Given the description of an element on the screen output the (x, y) to click on. 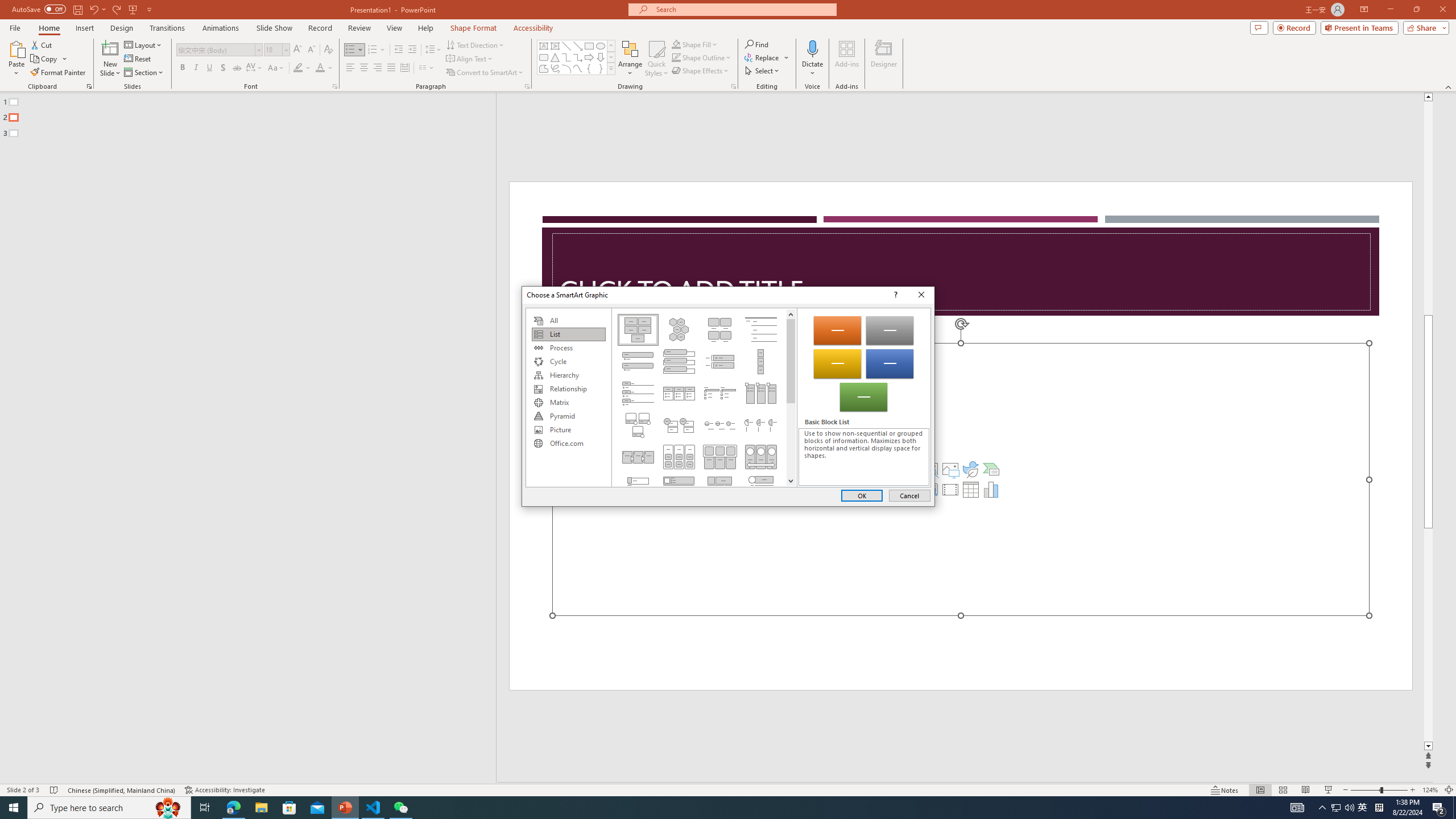
Distributed (404, 67)
Lined List (761, 329)
Pyramid (568, 416)
Line (566, 45)
Home (48, 28)
Page down (790, 438)
Office Clipboard... (88, 85)
Restore Down (1416, 9)
New Slide (110, 48)
Freeform: Scribble (554, 68)
Align Text (470, 58)
Clear Formatting (327, 49)
Slide Sorter (1282, 790)
